Given the description of an element on the screen output the (x, y) to click on. 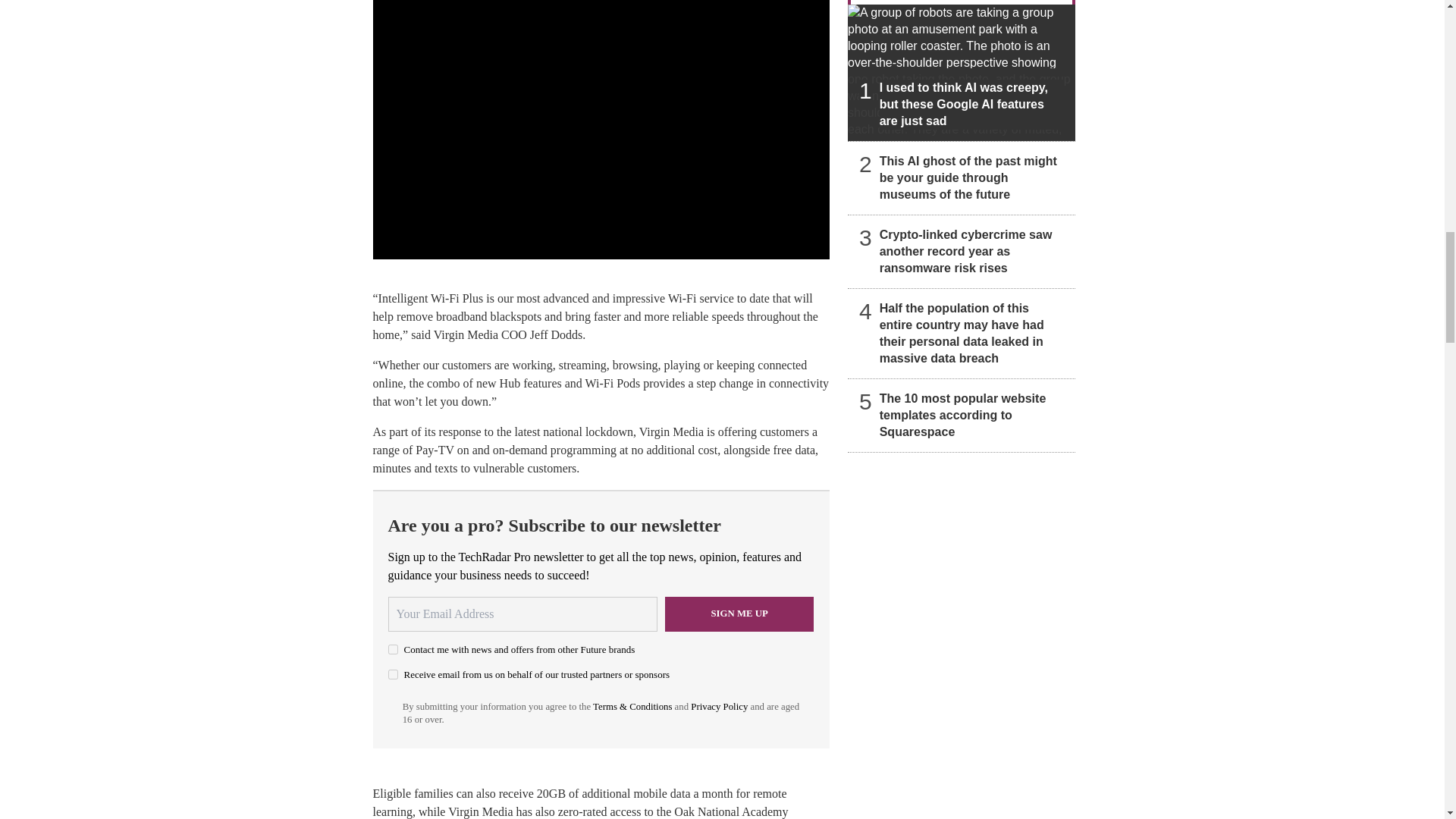
on (392, 674)
on (392, 649)
Sign me up (739, 614)
